Given the description of an element on the screen output the (x, y) to click on. 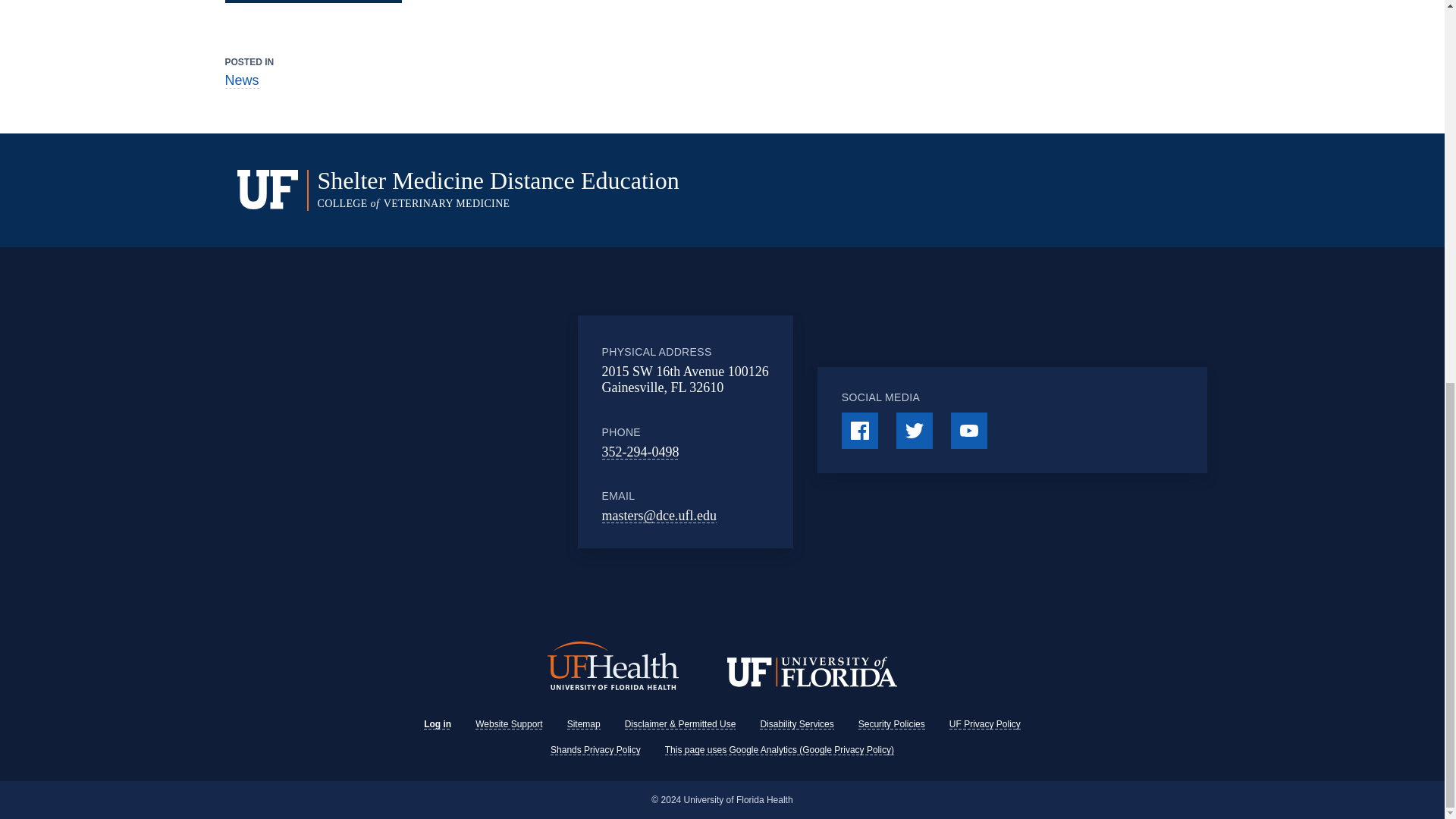
Security Policies (891, 724)
Log in (437, 724)
Disability Services (796, 724)
Website Support (509, 724)
UF Privacy Policy (984, 724)
Google Maps Embed (454, 431)
Sitemap (583, 724)
352-294-0498 (640, 451)
Shands Privacy Policy (595, 749)
